Given the description of an element on the screen output the (x, y) to click on. 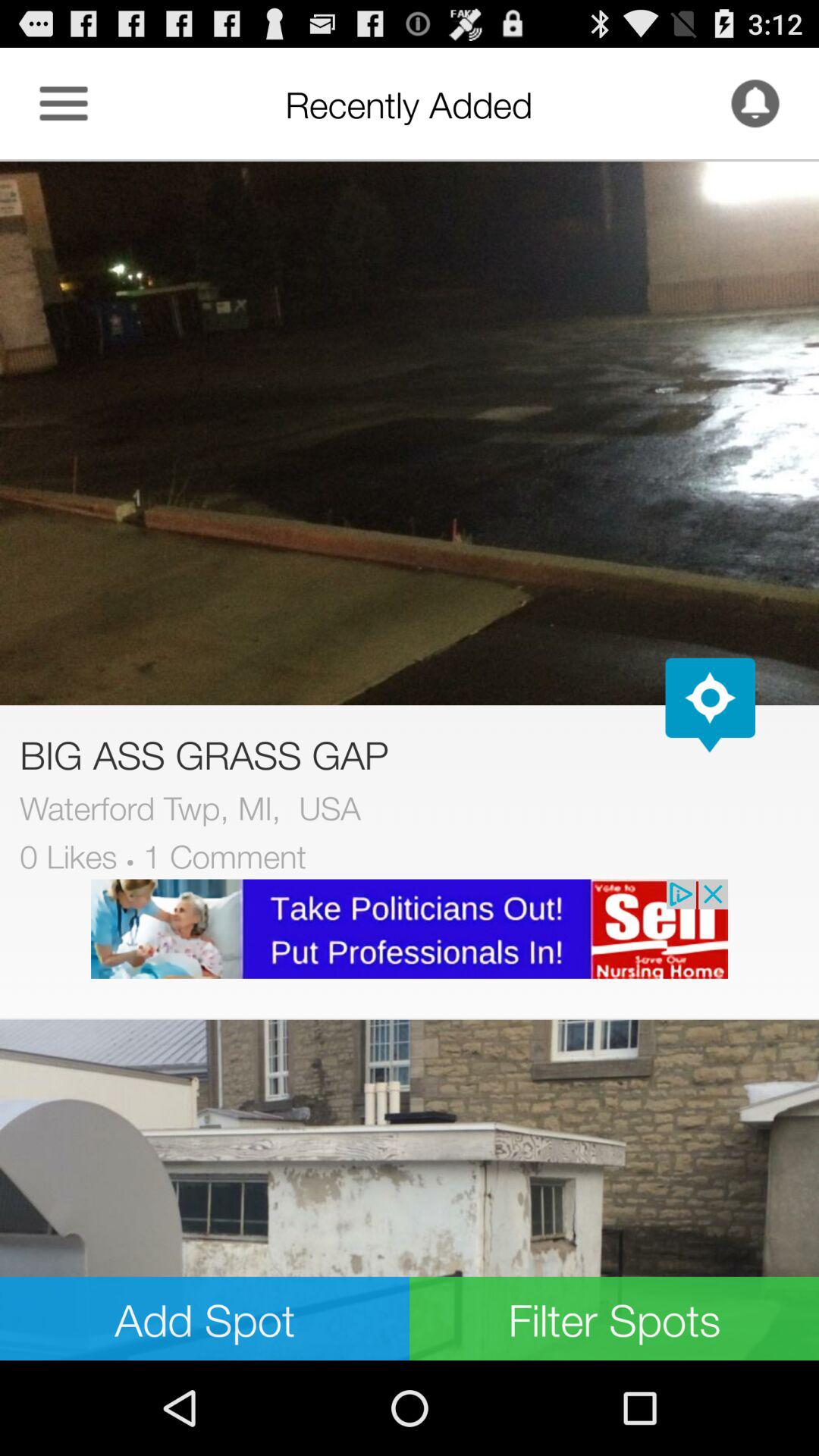
notify (755, 103)
